Given the description of an element on the screen output the (x, y) to click on. 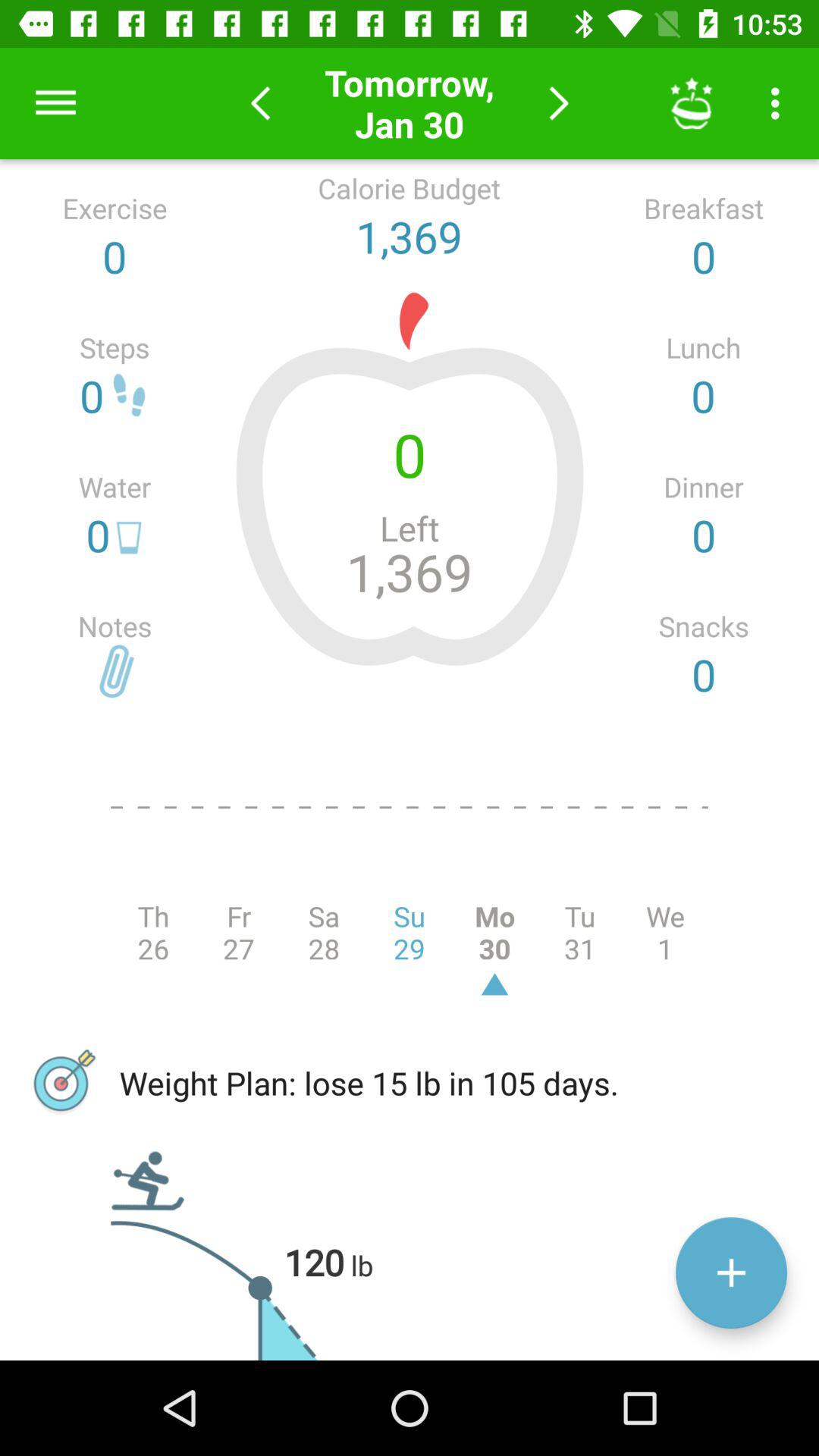
move forward one day (558, 103)
